Given the description of an element on the screen output the (x, y) to click on. 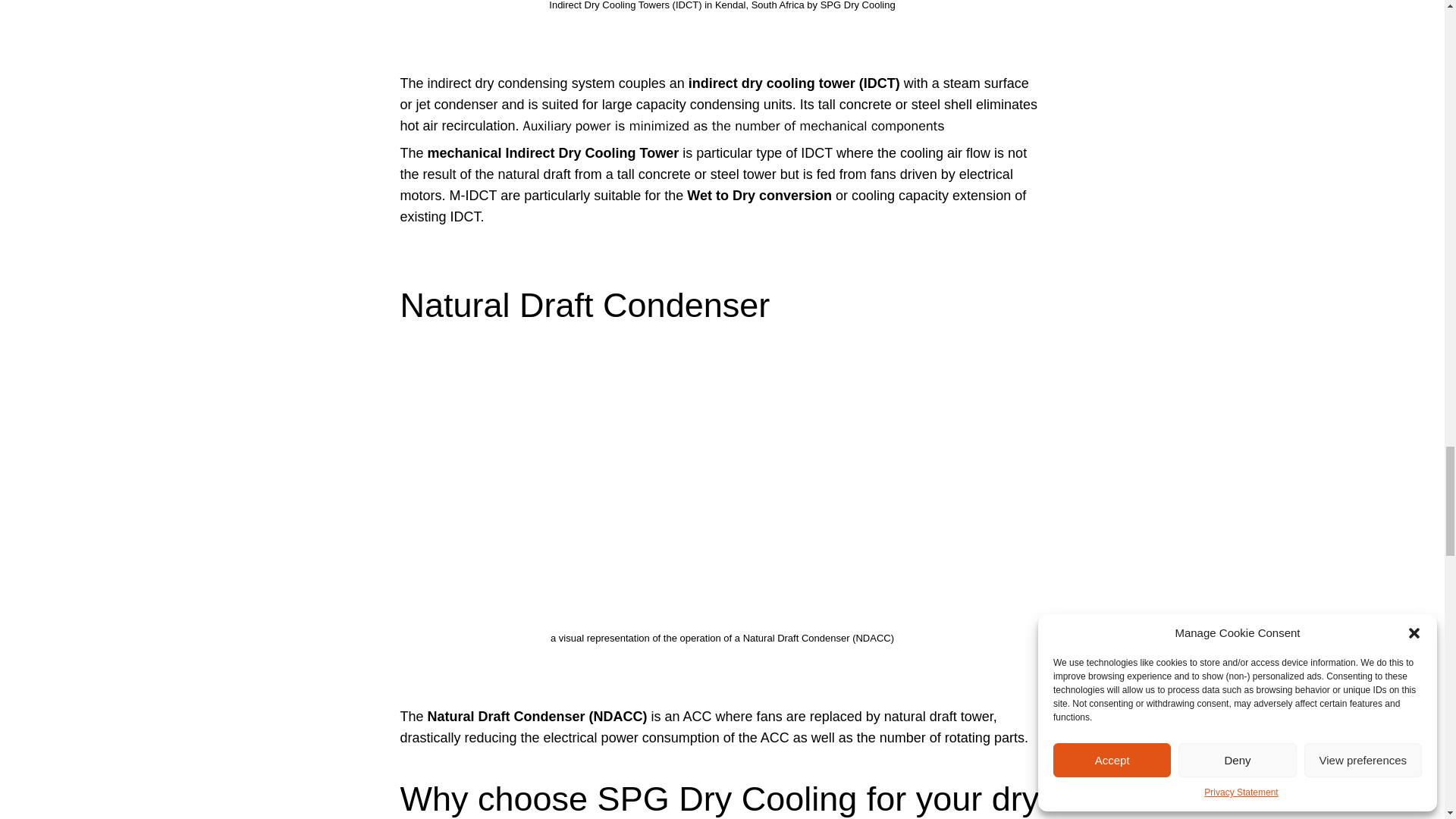
dry-cooling-ndacc (721, 492)
